Given the description of an element on the screen output the (x, y) to click on. 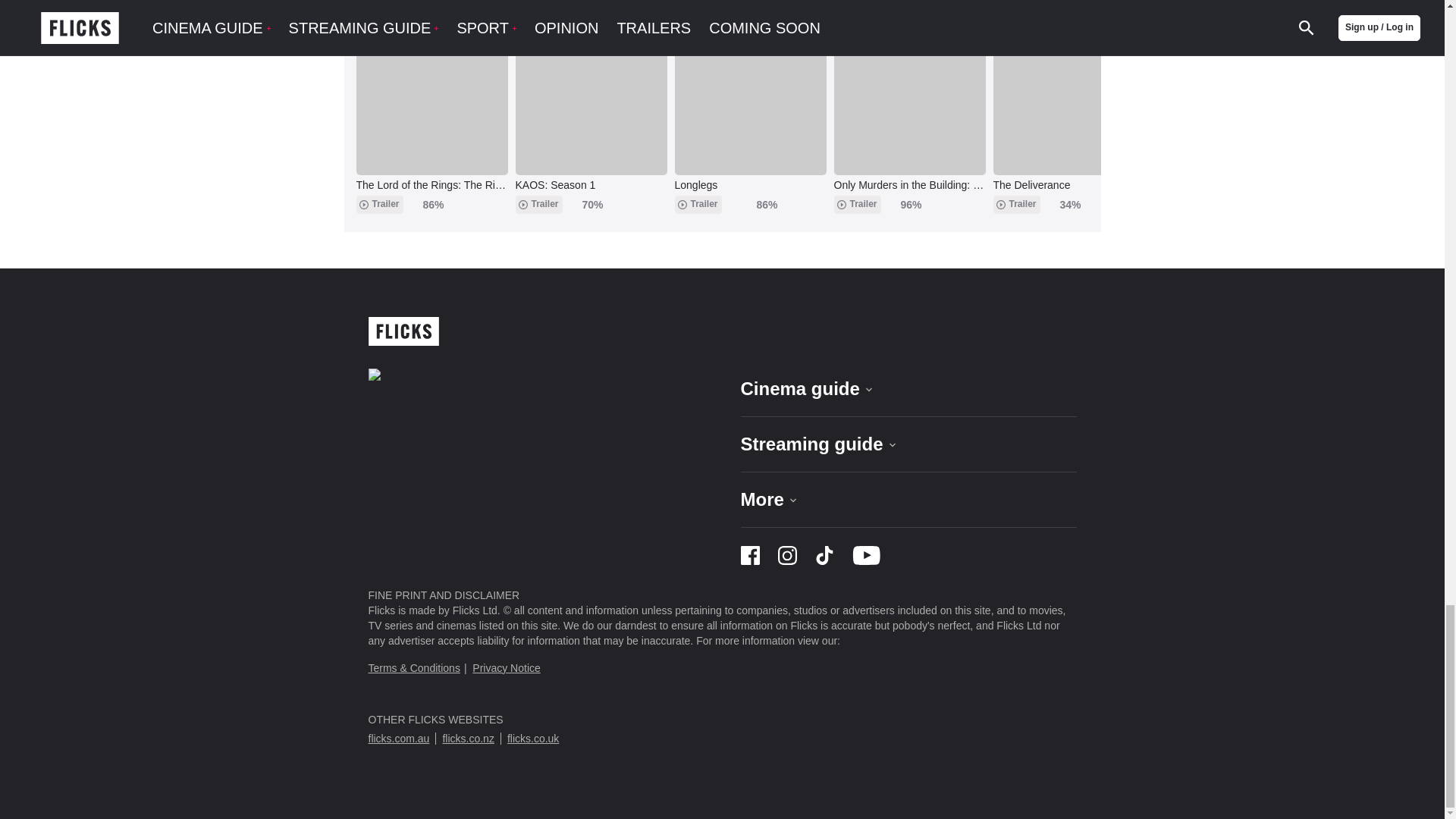
instagram (786, 560)
Facebook (748, 560)
Youtube (865, 560)
Tiktok (822, 560)
